Given the description of an element on the screen output the (x, y) to click on. 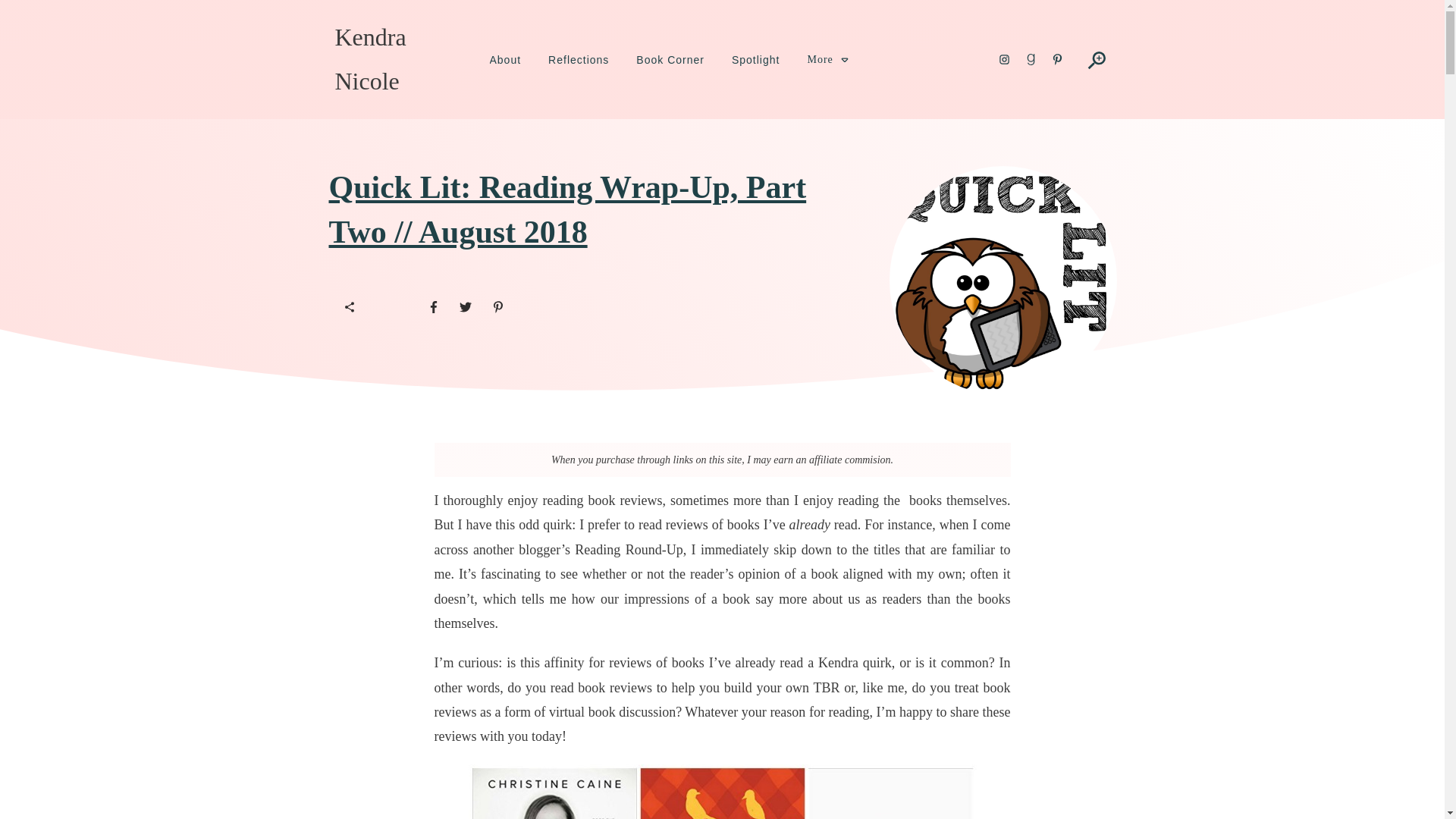
Book Corner (670, 59)
About (505, 59)
Kendra Nicole (370, 59)
Spotlight (755, 59)
More (827, 59)
Reflections (578, 59)
